Given the description of an element on the screen output the (x, y) to click on. 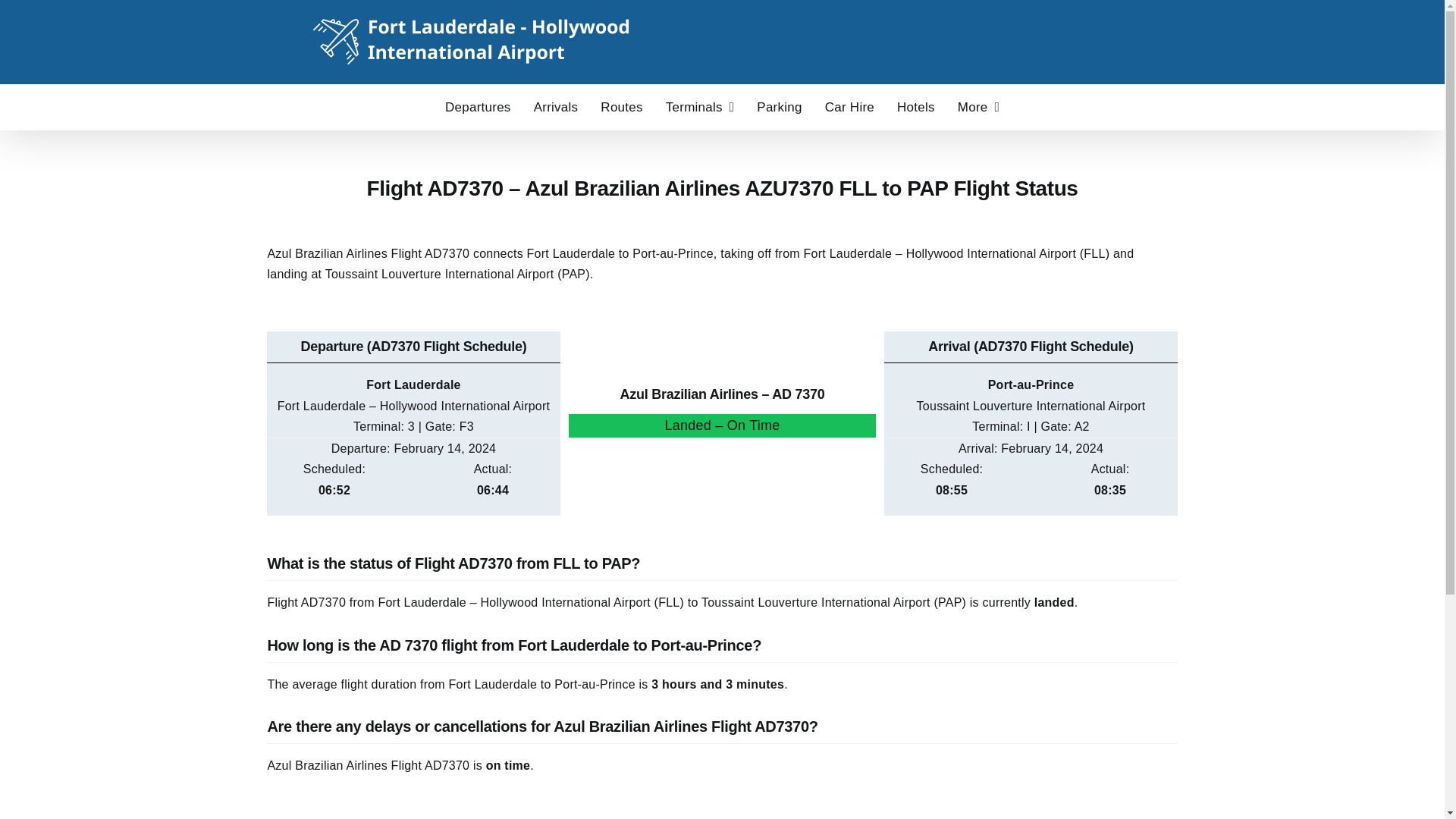
FLL Routes (620, 106)
Arrivals (556, 106)
FLL Arrivals (556, 106)
FLL Car Hire (850, 106)
Terminals (700, 106)
Car Hire (850, 106)
More (978, 106)
FLL Departures (478, 106)
Routes (620, 106)
Departures (478, 106)
